Given the description of an element on the screen output the (x, y) to click on. 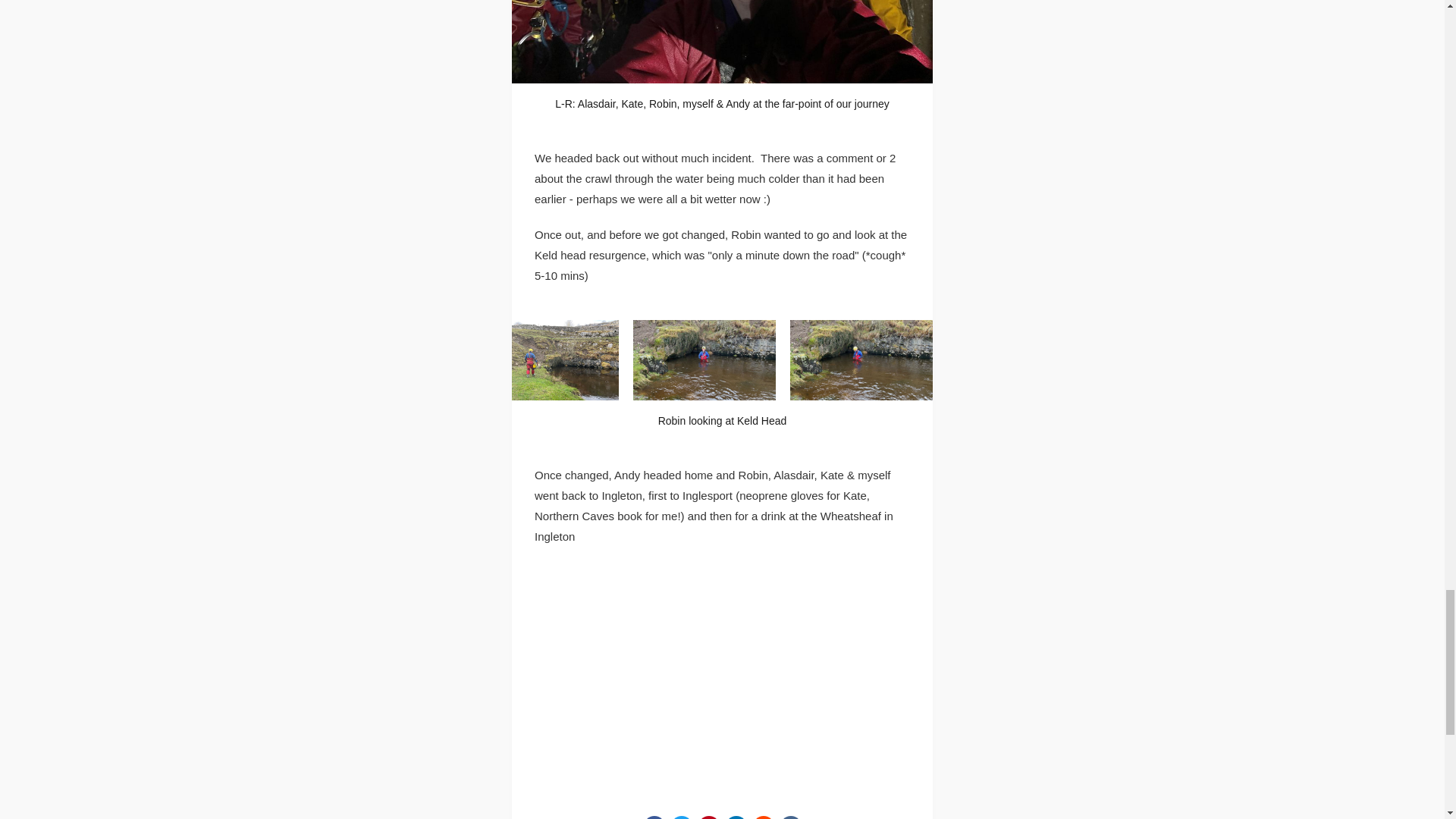
Valley Entrance to Toyland - 7 Jan 2023 (722, 686)
